Given the description of an element on the screen output the (x, y) to click on. 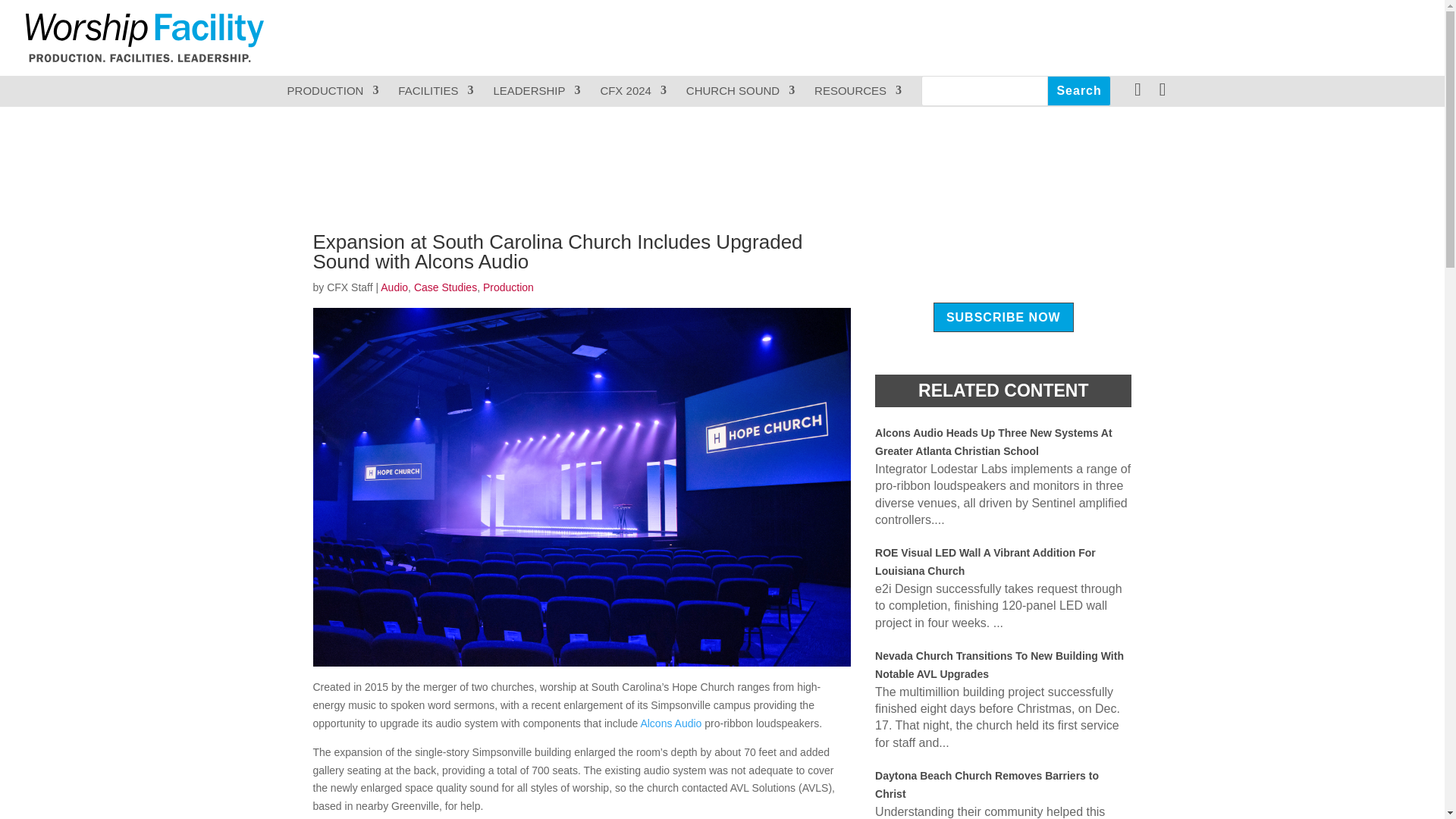
Search (1078, 91)
RESOURCES (857, 91)
CFX 2024 (632, 91)
ROE Visual LED Wall A Vibrant Addition For Louisiana Church (985, 562)
LEADERSHIP (536, 91)
FACILITIES (435, 91)
Posts by CFX Staff (349, 287)
CHURCH SOUND (739, 91)
PRODUCTION (332, 91)
